Given the description of an element on the screen output the (x, y) to click on. 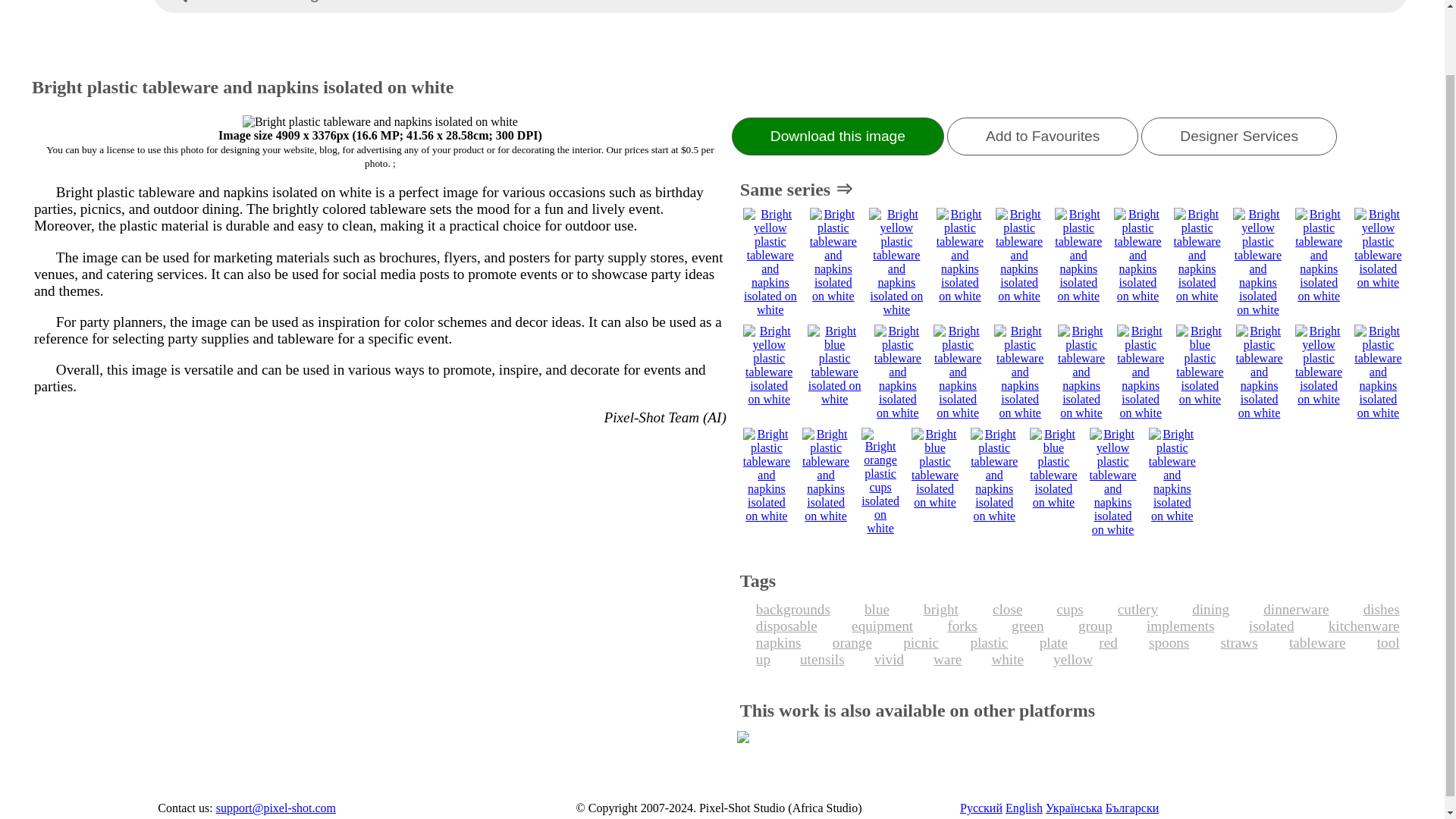
Add to Favourites (1042, 136)
Bright plastic tableware and napkins isolated on white (380, 121)
Designer Services (1238, 136)
Download this image (837, 136)
